Given the description of an element on the screen output the (x, y) to click on. 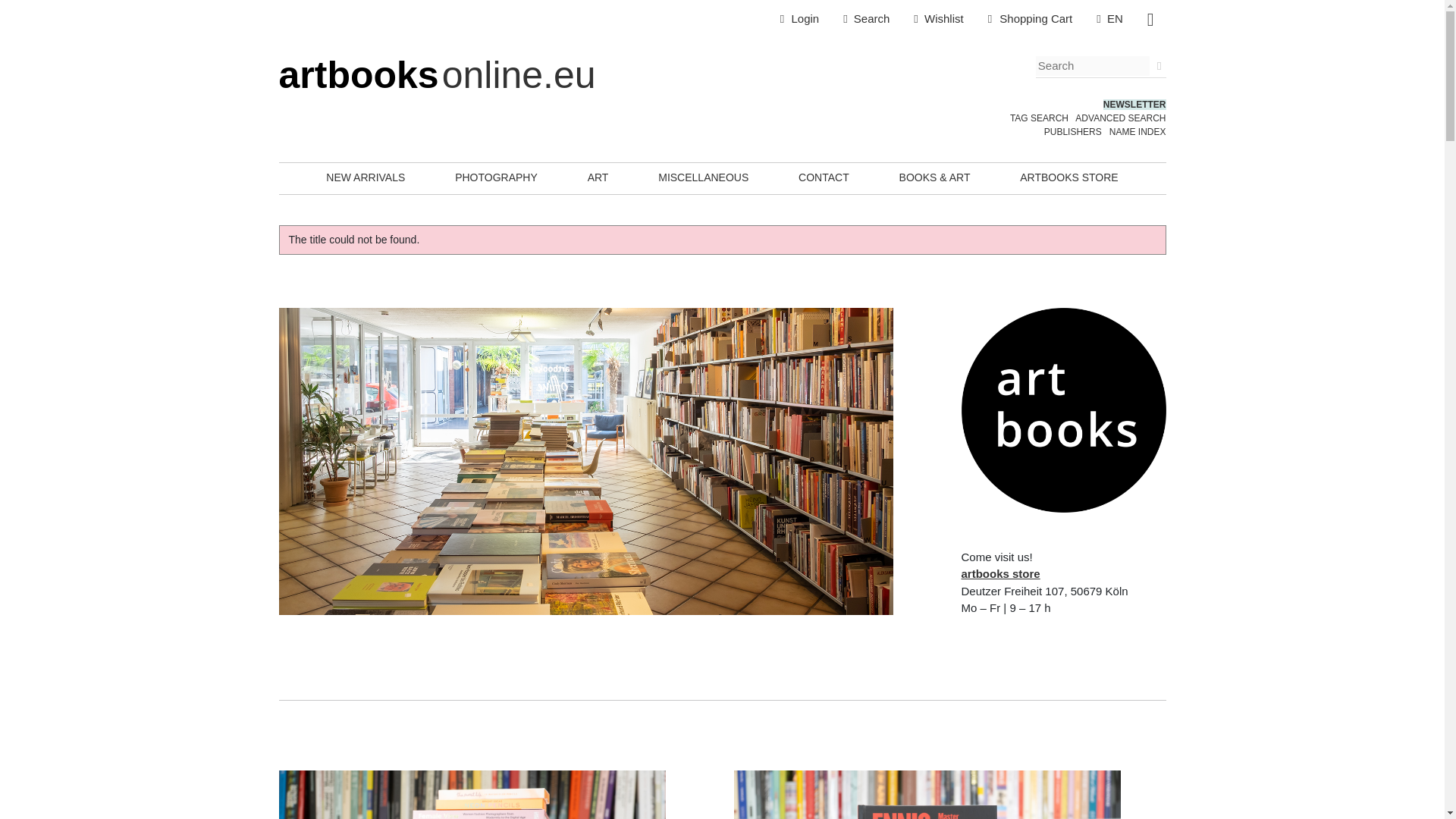
Wishlist (938, 19)
ADVANCED SEARCH (1120, 118)
Search (866, 19)
NEW ARRIVALS (365, 177)
artbooksonline.eu (437, 75)
NAME INDEX (1137, 131)
NEWSLETTER (1134, 104)
EN (1109, 19)
PUBLISHERS (1072, 131)
TAG SEARCH (1039, 118)
